Given the description of an element on the screen output the (x, y) to click on. 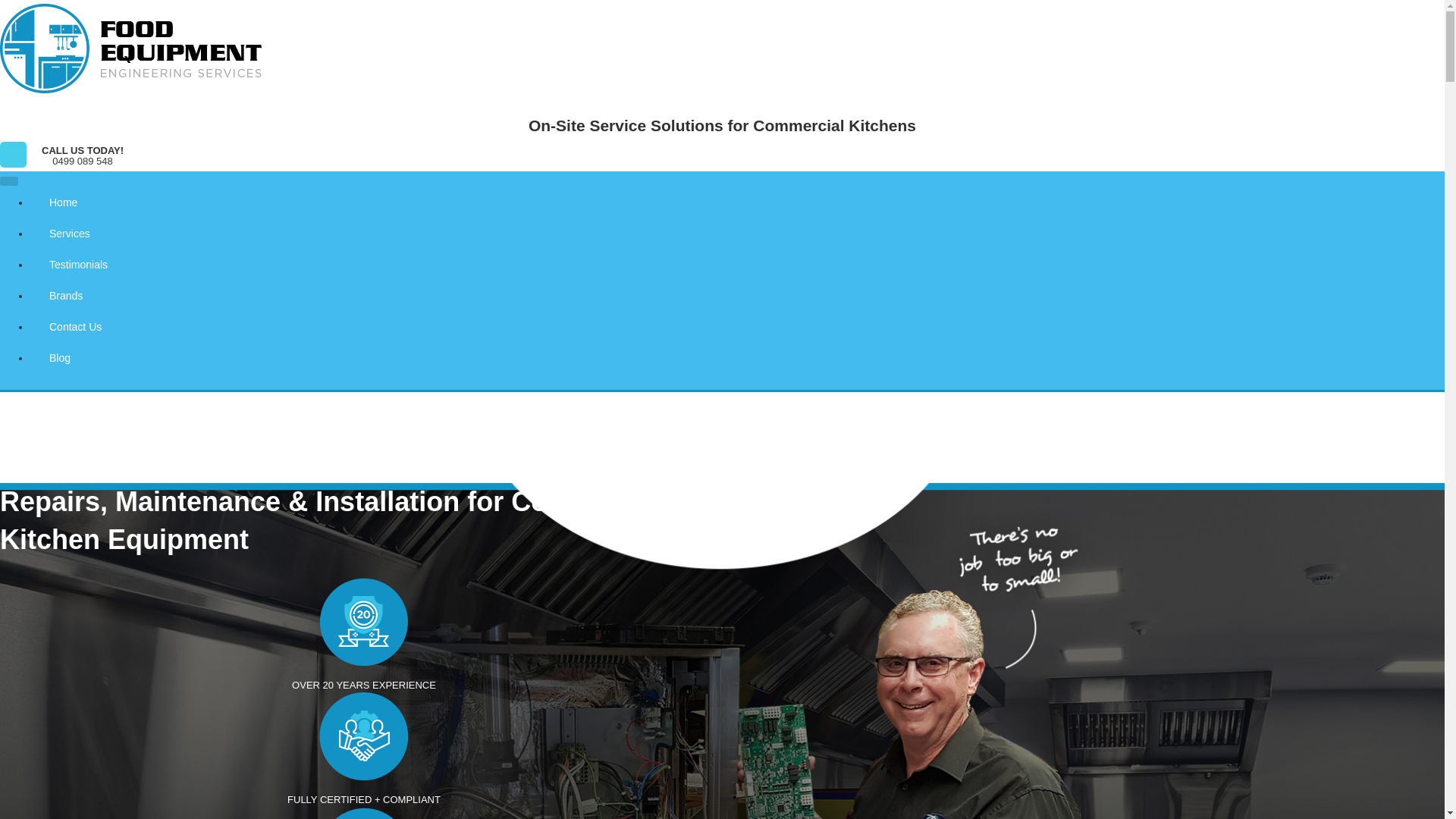
Food Equipment Engineering Services Element type: text (103, 118)
Contact Us Element type: text (737, 326)
Brands Element type: text (737, 295)
Services Element type: text (737, 233)
Home Element type: text (737, 201)
Blog Element type: text (737, 357)
0499 089 548 Element type: text (82, 161)
Testimonials Element type: text (737, 263)
